Given the description of an element on the screen output the (x, y) to click on. 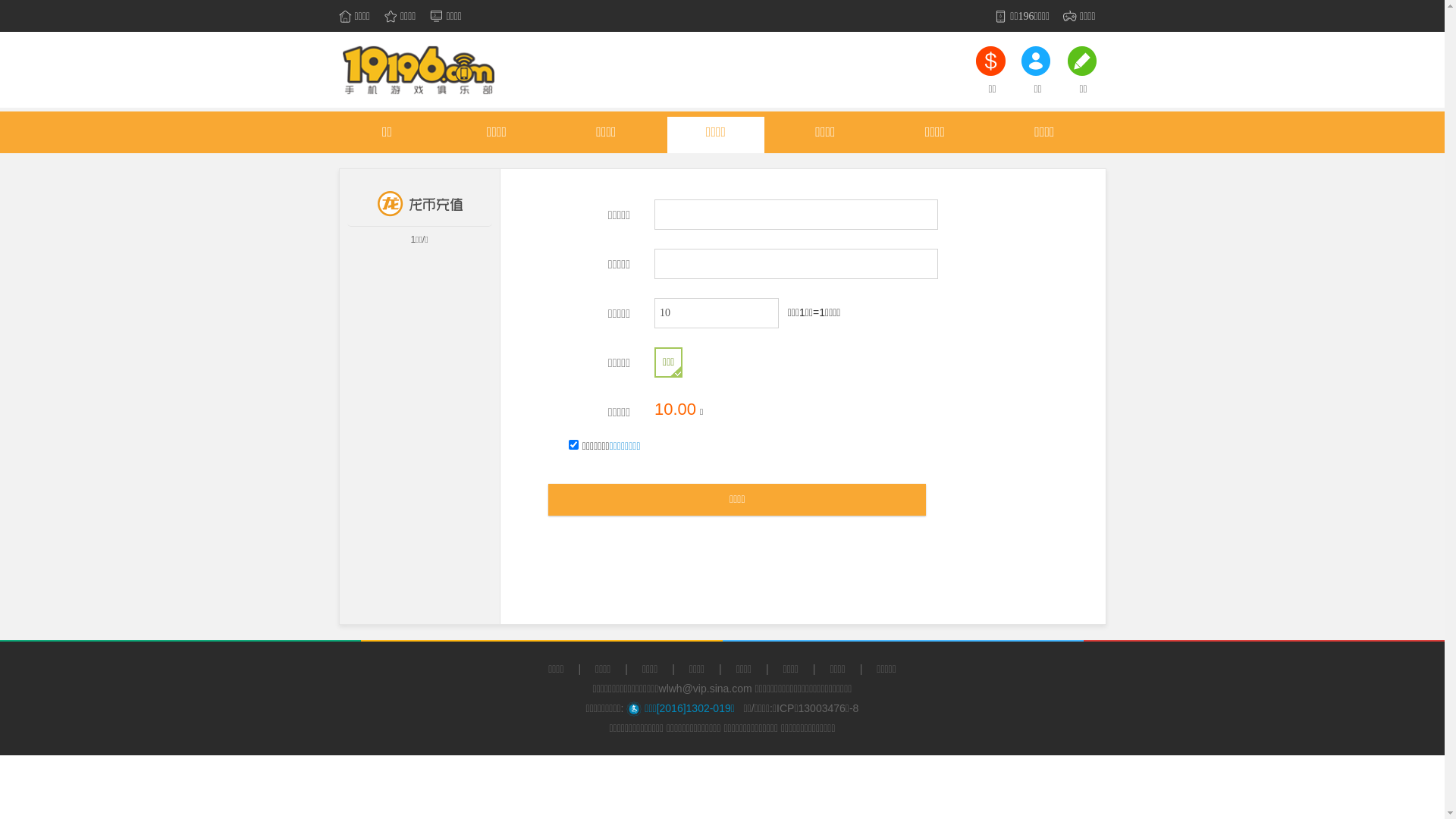
1 Element type: text (573, 444)
